Given the description of an element on the screen output the (x, y) to click on. 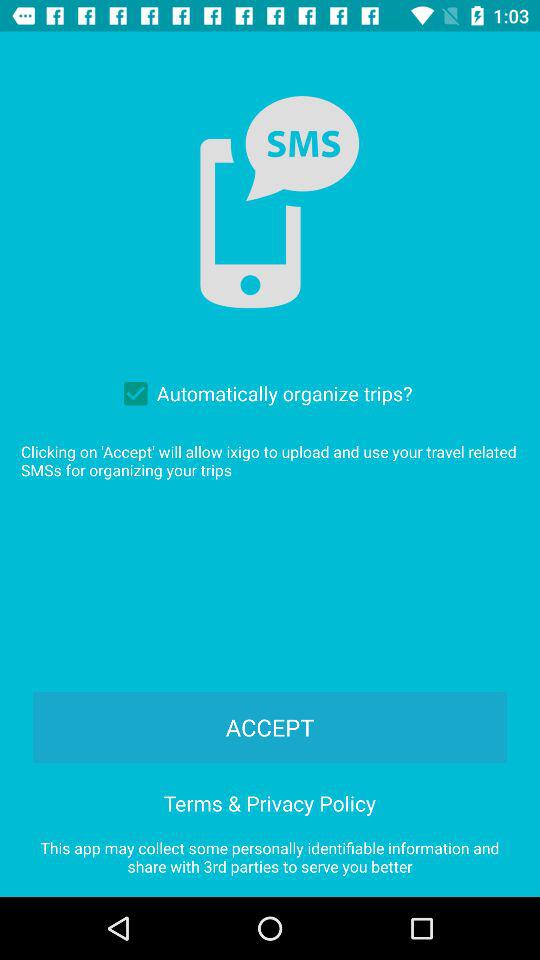
jump to automatically organize trips? item (263, 393)
